Given the description of an element on the screen output the (x, y) to click on. 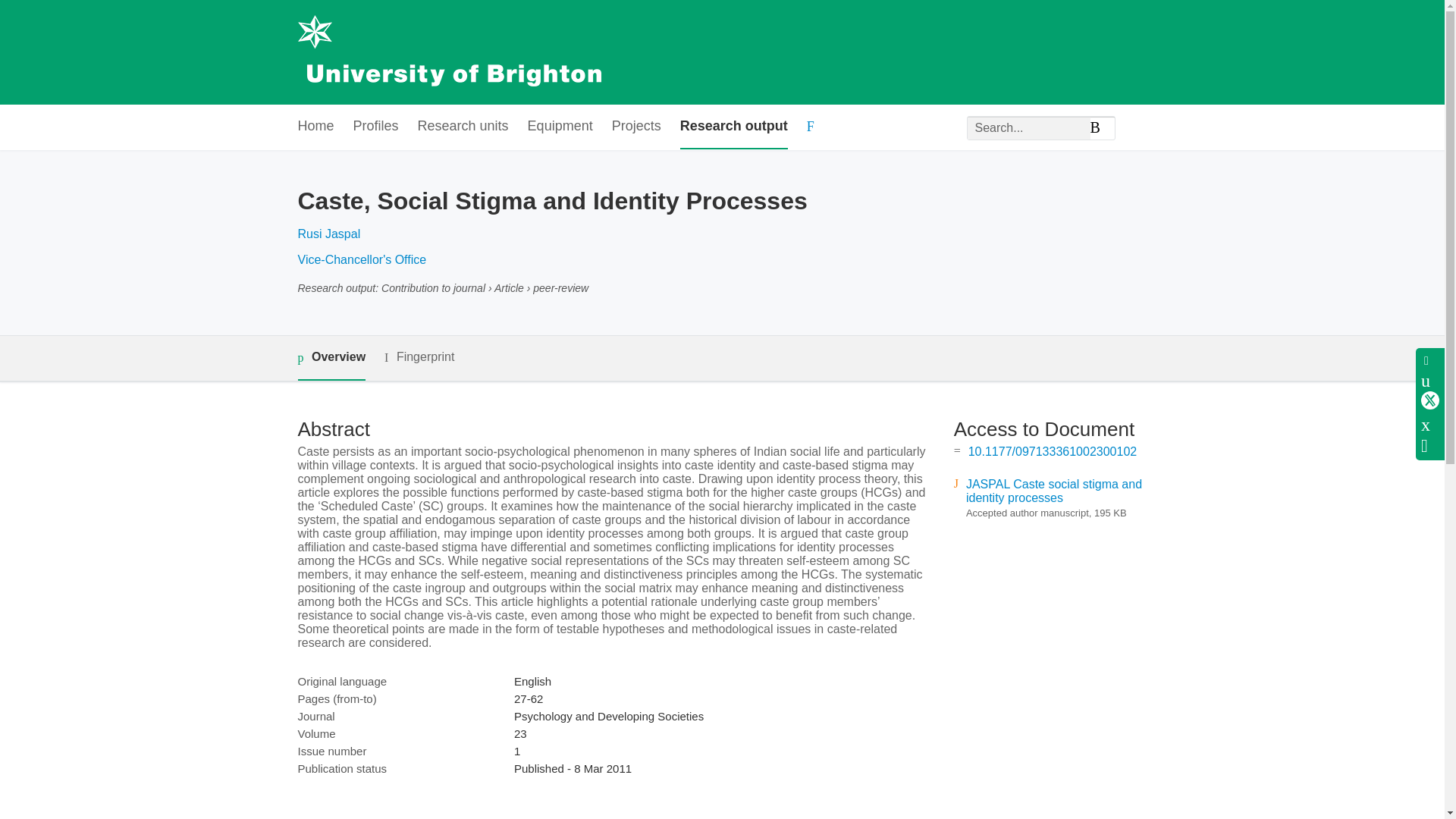
Projects (636, 126)
The University of Brighton Home (448, 52)
Profiles (375, 126)
JASPAL Caste social stigma and identity processes (1053, 490)
Fingerprint (419, 357)
Research output (733, 126)
Equipment (559, 126)
Vice-Chancellor's Office (361, 259)
Research units (462, 126)
Overview (331, 357)
Rusi Jaspal (328, 233)
